Given the description of an element on the screen output the (x, y) to click on. 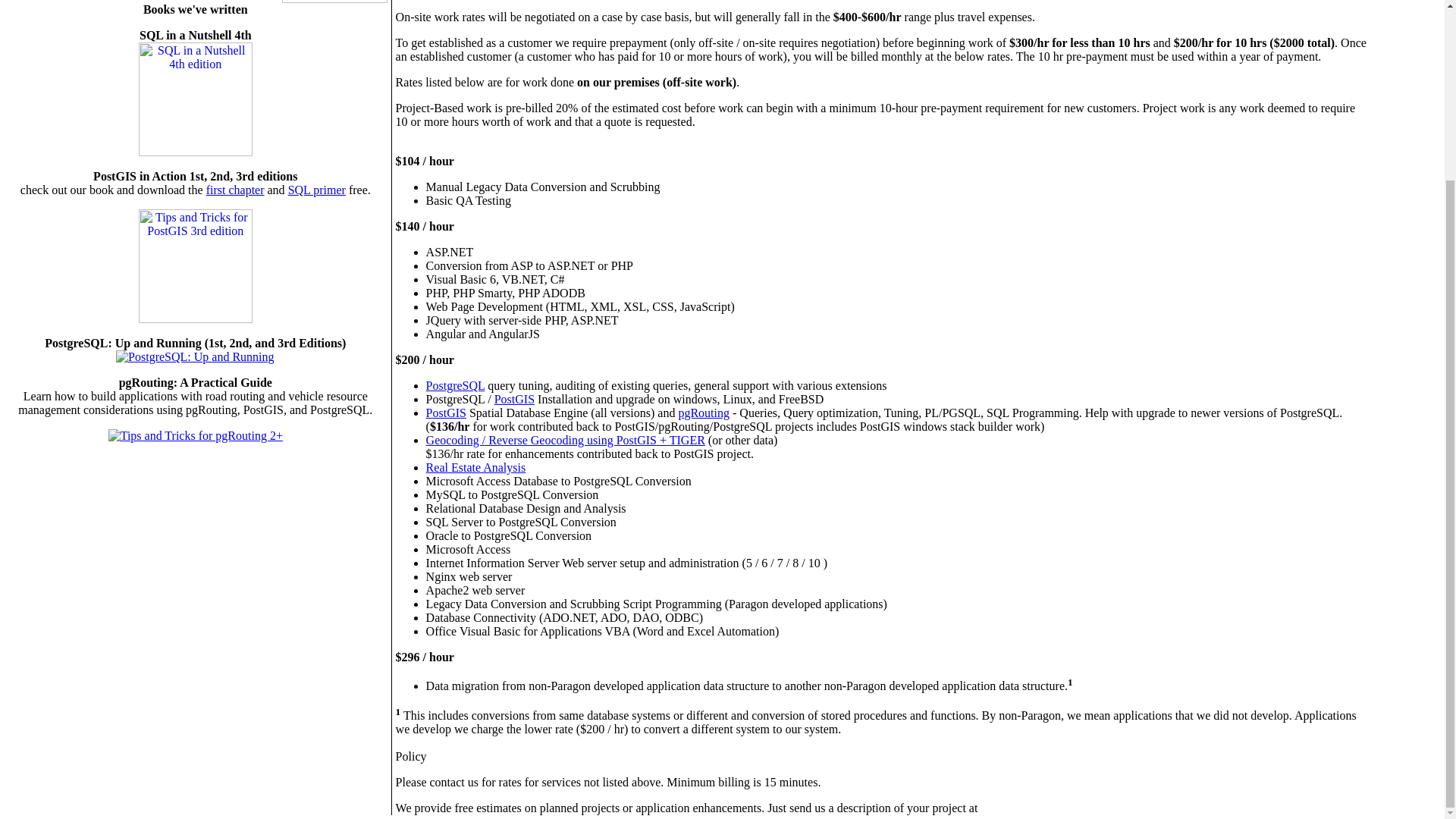
pgRouting (703, 412)
SQL in a Nutshell 4th edition (194, 99)
PostGIS (514, 399)
first chapter (235, 189)
pgRouting: A Practical Guide (194, 435)
PostGIS in Action 3rd Edition (194, 318)
PostgreSQL (455, 385)
Real Estate Analysis (475, 467)
PostGIS (445, 412)
SQL primer (317, 189)
